Given the description of an element on the screen output the (x, y) to click on. 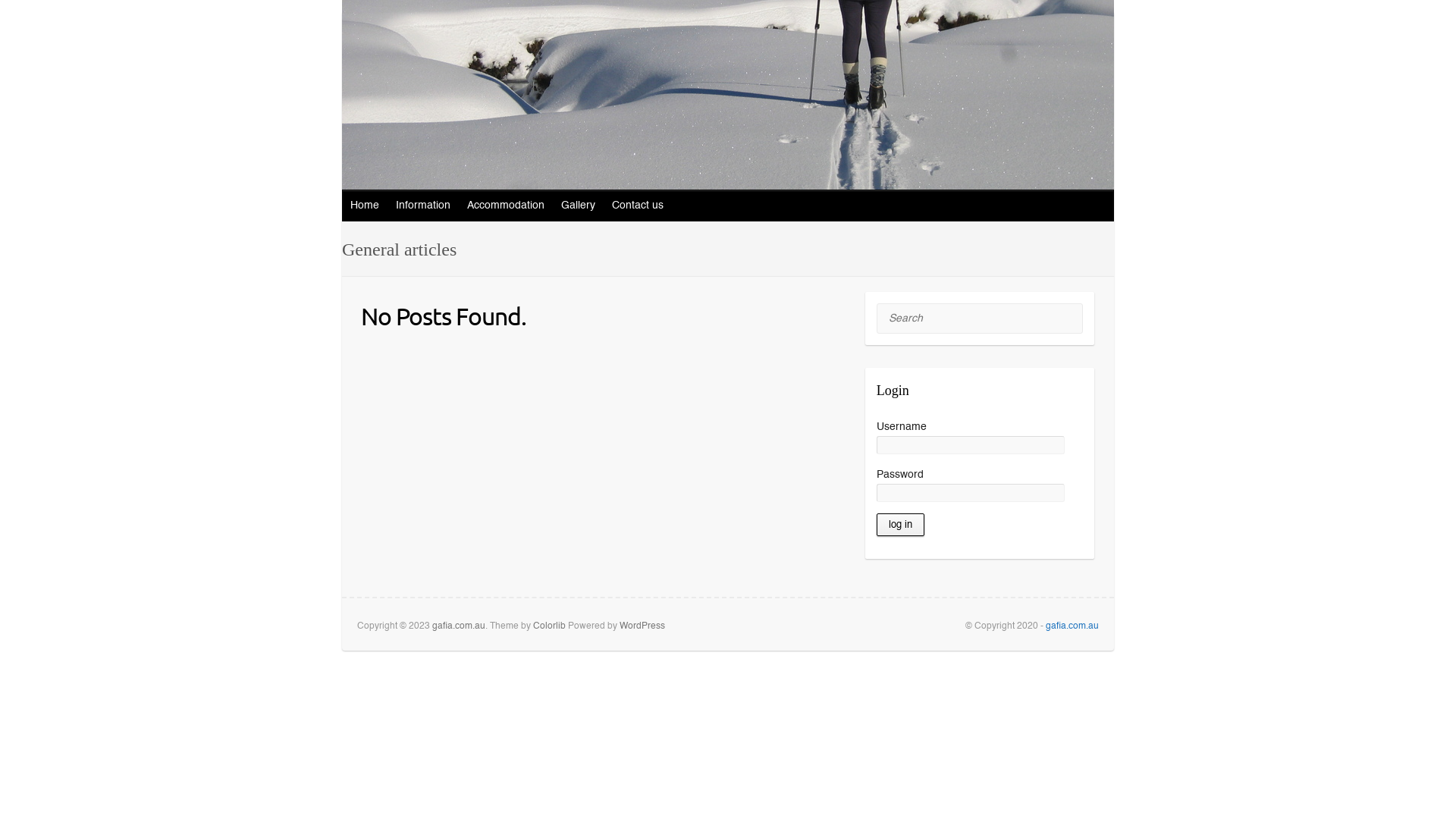
Information Element type: text (423, 205)
Home Element type: text (365, 205)
Colorlib Element type: text (549, 625)
WordPress Element type: text (642, 625)
Accommodation Element type: text (506, 205)
Contact us Element type: text (638, 205)
Log In Element type: text (900, 524)
gafia.com.au Element type: text (1071, 625)
gafia.com.au Element type: text (458, 625)
Gallery Element type: text (578, 205)
